Given the description of an element on the screen output the (x, y) to click on. 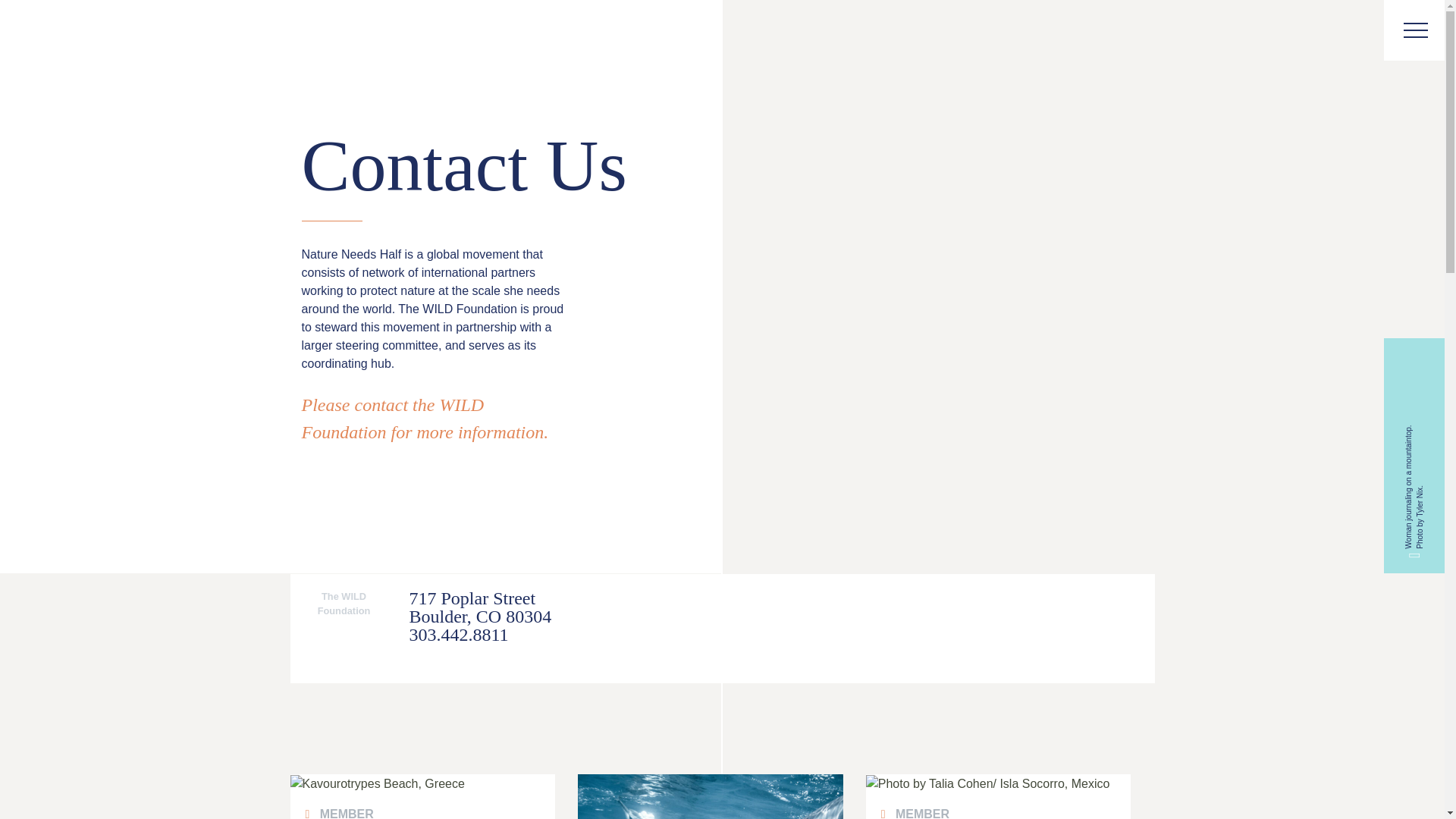
Nature Needs Half (65, 31)
Please contact the WILD Foundation for more information. (424, 418)
Kavourotrypes Beach, Greece (421, 783)
